Given the description of an element on the screen output the (x, y) to click on. 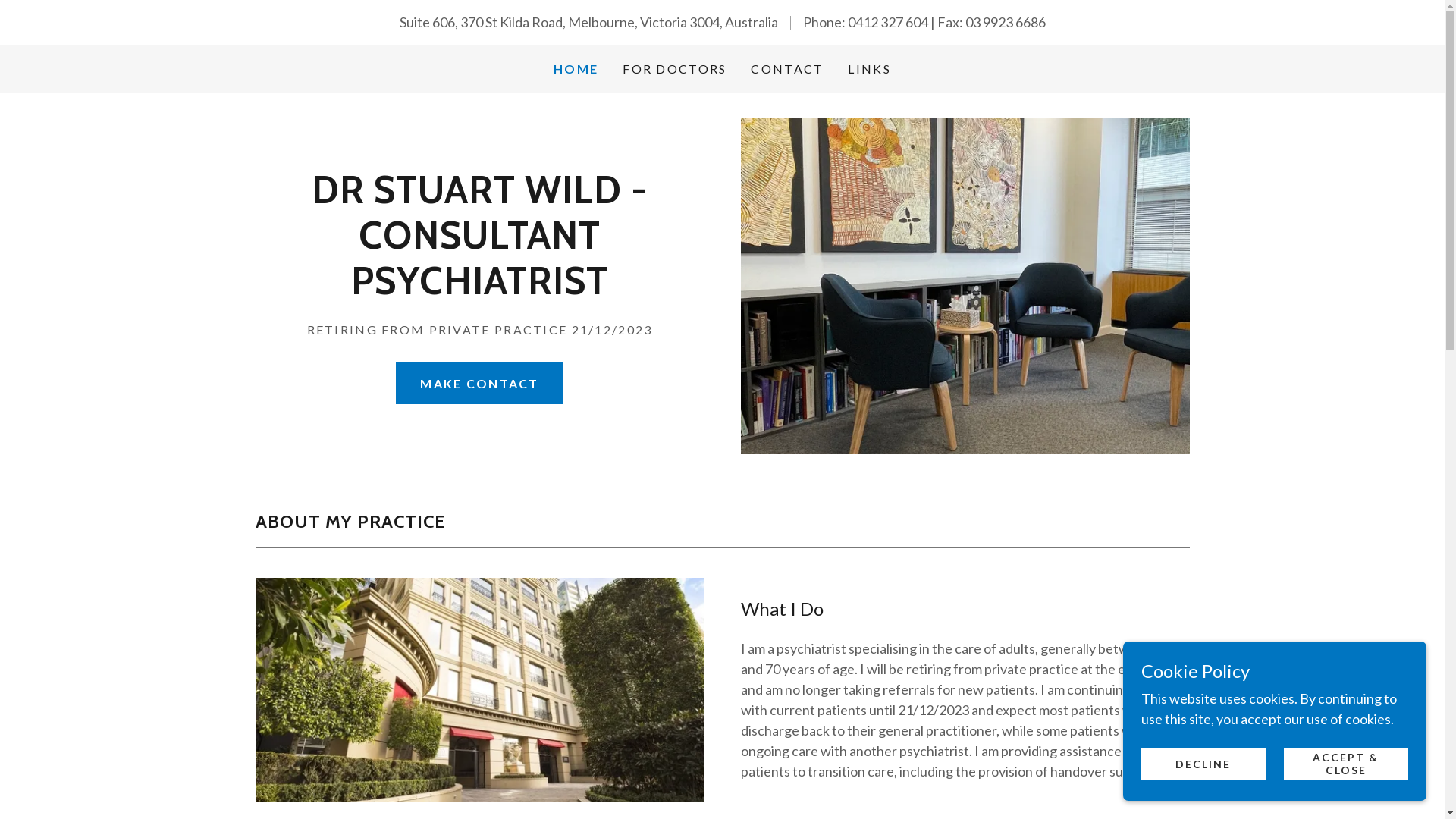
DECLINE Element type: text (1203, 763)
LINKS Element type: text (868, 68)
0412 327 604 Element type: text (887, 21)
FOR DOCTORS Element type: text (674, 68)
CONTACT Element type: text (787, 68)
DR STUART WILD - CONSULTANT PSYCHIATRIST Element type: text (478, 288)
03 9923 6686 Element type: text (1004, 21)
MAKE CONTACT Element type: text (478, 382)
HOME Element type: text (575, 68)
ACCEPT & CLOSE Element type: text (1345, 763)
